Given the description of an element on the screen output the (x, y) to click on. 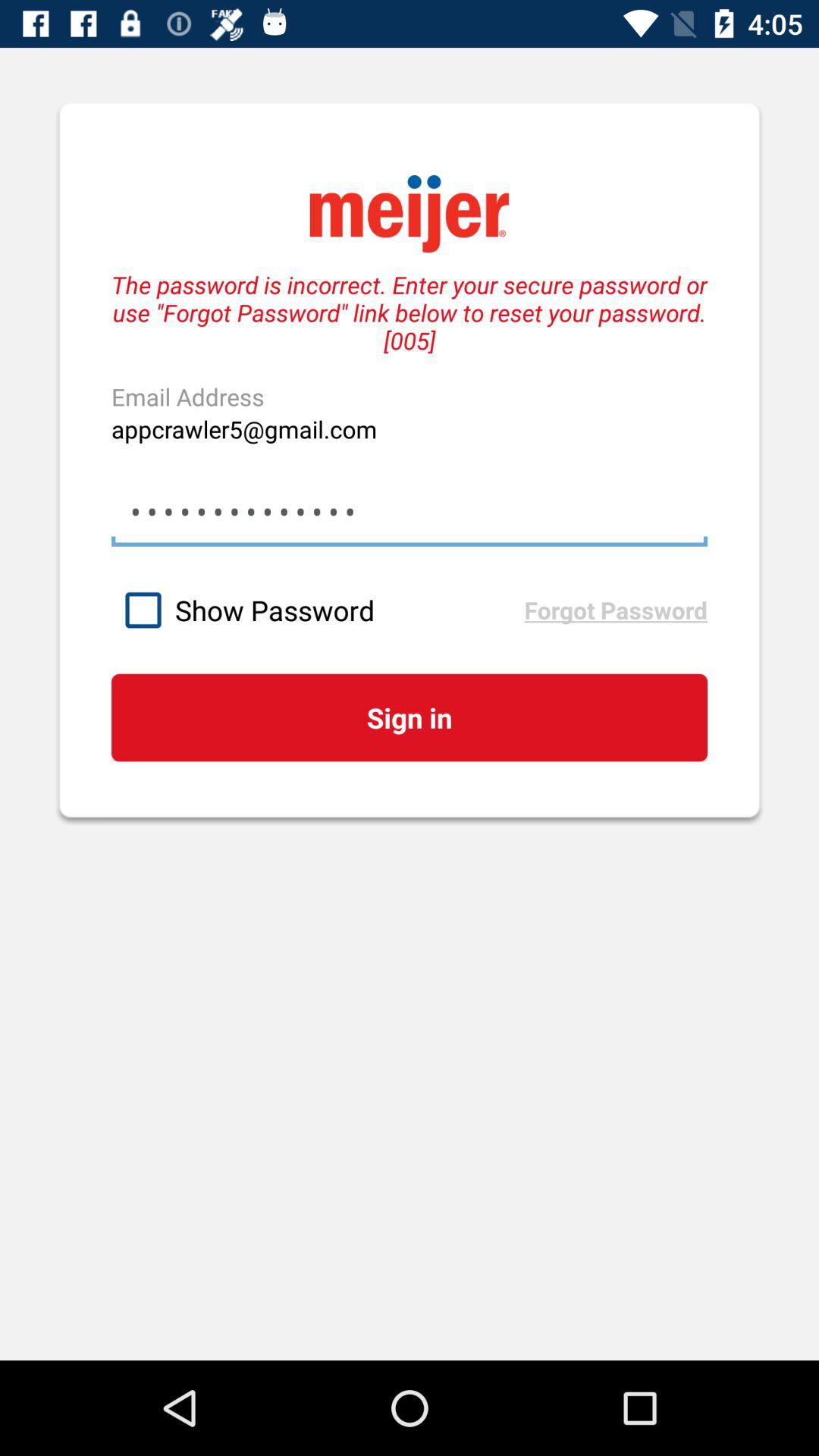
select the show password (317, 610)
